Given the description of an element on the screen output the (x, y) to click on. 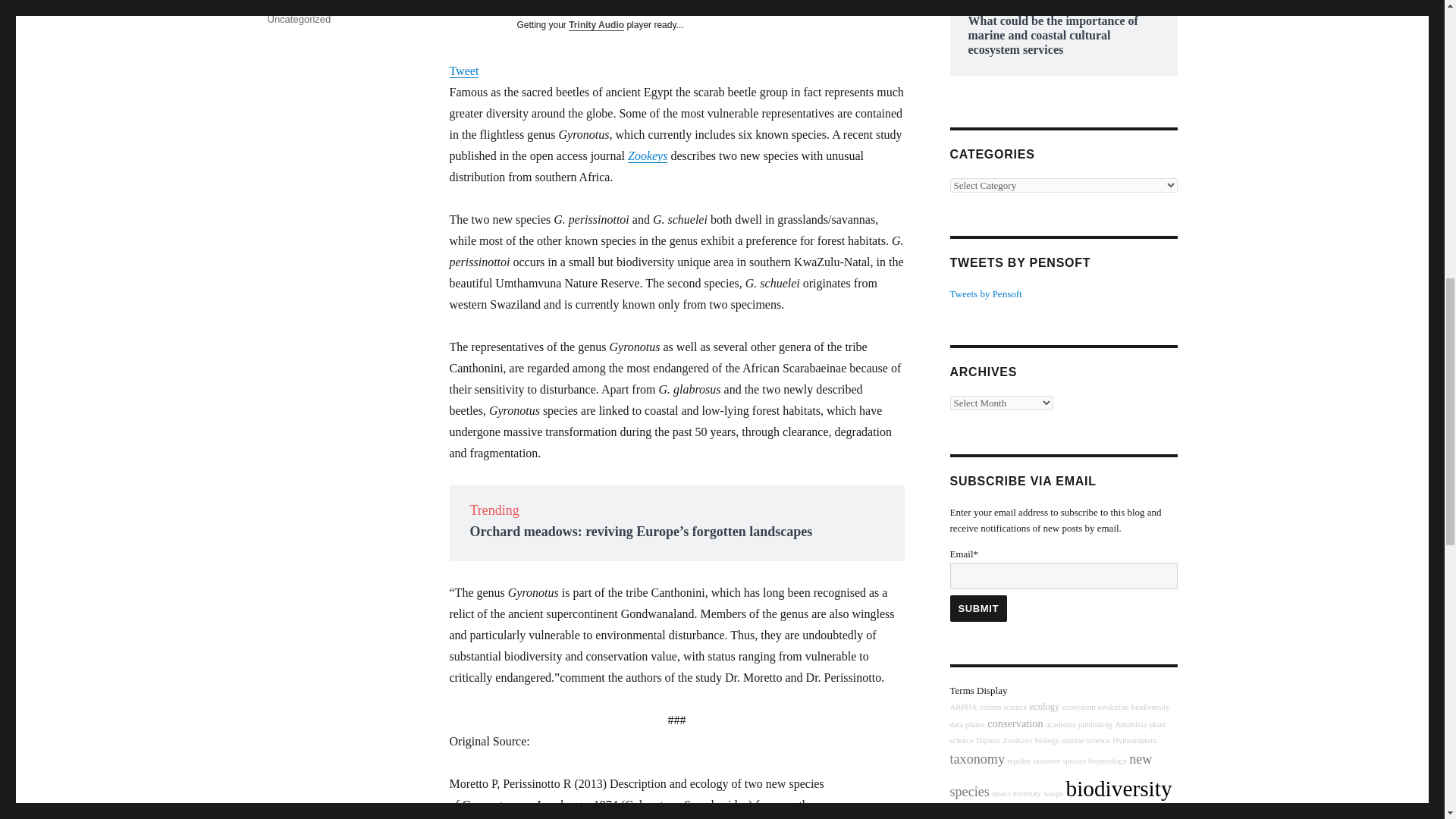
ecosystem (1077, 706)
October 22, 2013 (304, 2)
Zookeys (646, 155)
Submit (978, 608)
plants (975, 724)
48 topics (1078, 724)
34 topics (962, 706)
ARPHA (962, 706)
citizen science (1002, 706)
28 topics (1112, 706)
112 topics (1044, 706)
35 topics (975, 724)
conservation (1015, 723)
132 topics (1015, 723)
Trinity Audio (596, 24)
